Given the description of an element on the screen output the (x, y) to click on. 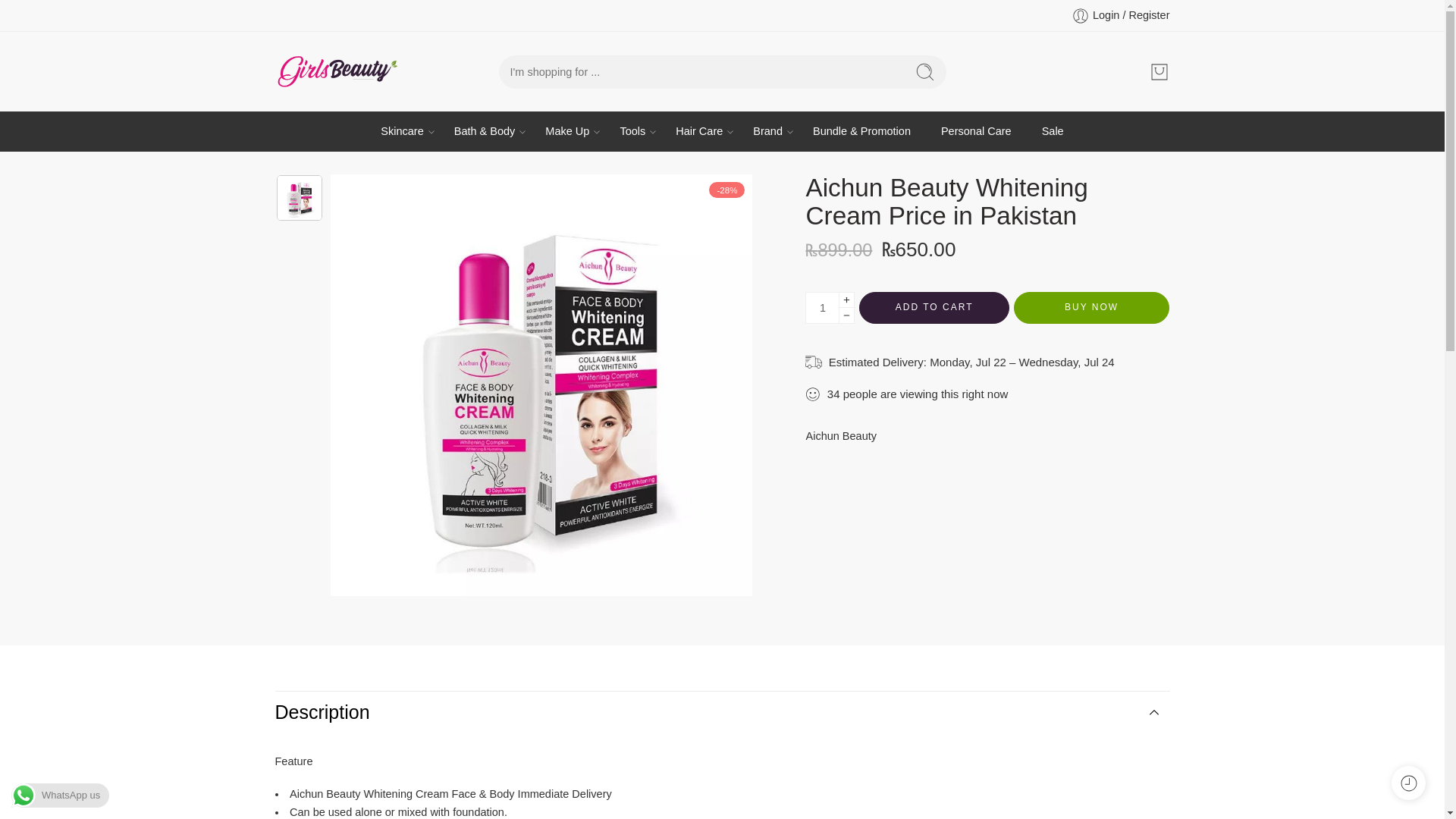
ADD TO CART (934, 307)
Hair Care (698, 131)
Personal Care (975, 131)
Skincare (401, 131)
Description (722, 712)
Skincare (401, 131)
Cart (1158, 70)
Aichun Beauty (840, 435)
Make Up (566, 131)
BUY NOW (1091, 307)
Hair Care (698, 131)
Personal Care (975, 131)
1 (822, 307)
 -  (336, 71)
Make Up (566, 131)
